Given the description of an element on the screen output the (x, y) to click on. 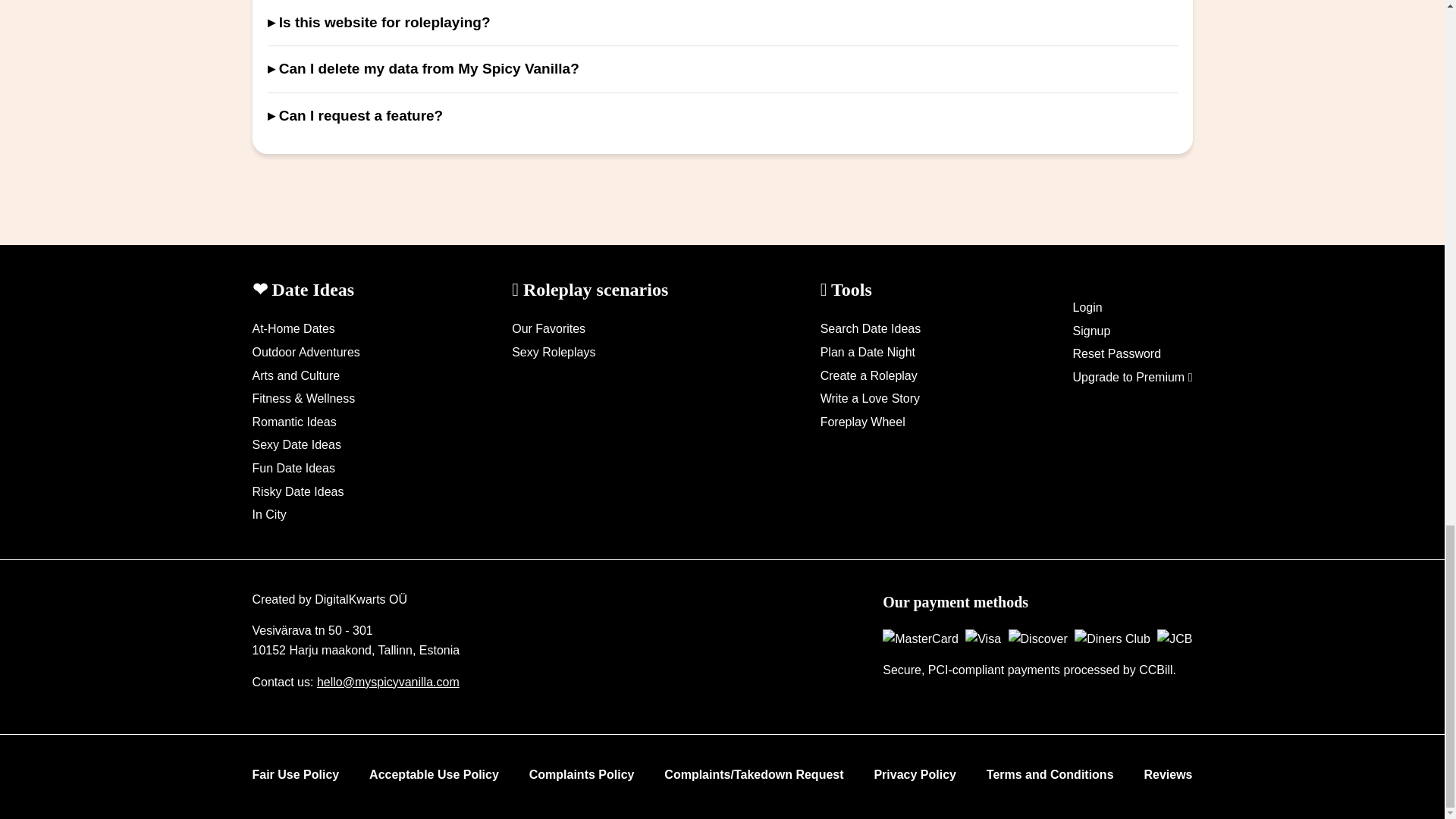
At-Home Dates (292, 328)
Arts and Culture (295, 375)
Outdoor Adventures (305, 351)
